Given the description of an element on the screen output the (x, y) to click on. 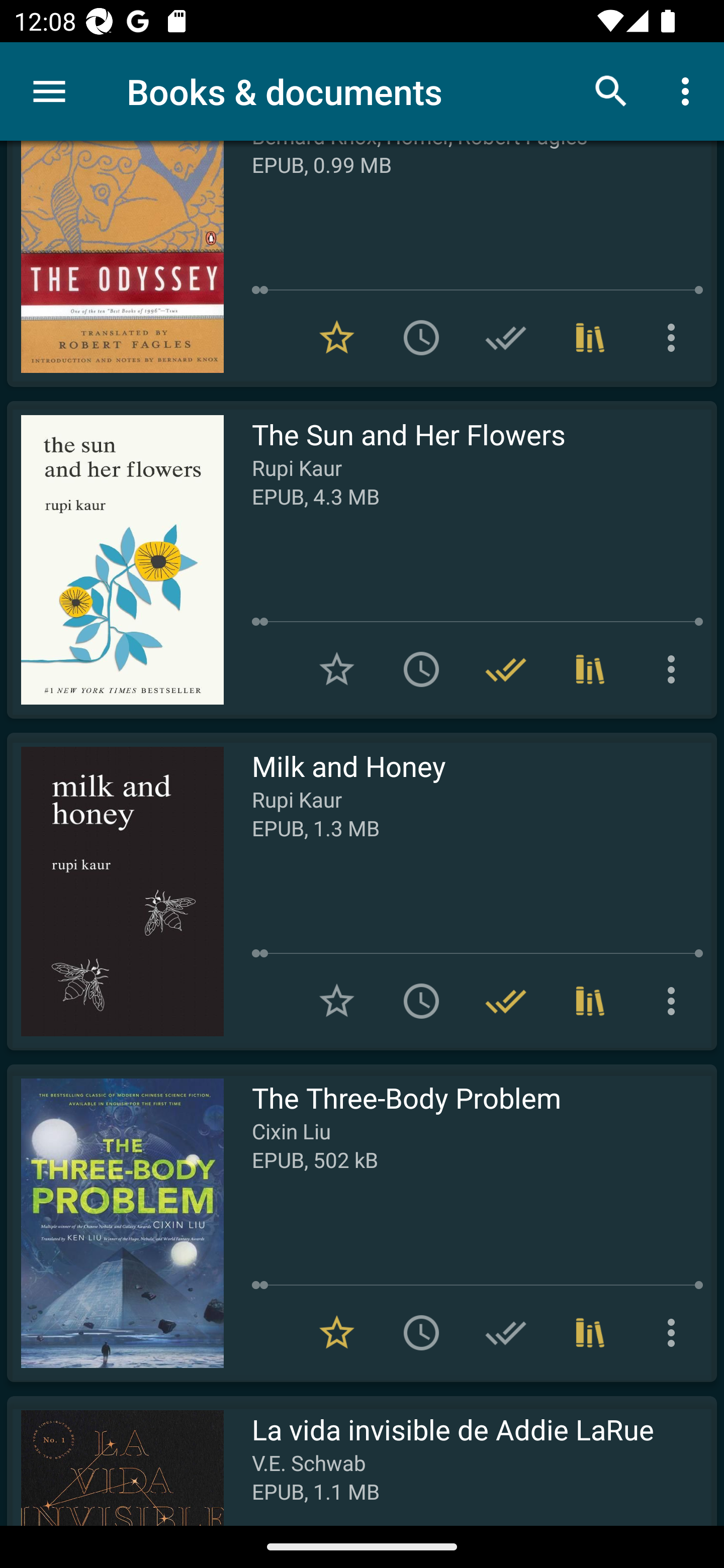
Menu (49, 91)
Search books & documents (611, 90)
More options (688, 90)
Read The Odyssey (115, 264)
Remove from Favorites (336, 336)
Add to To read (421, 336)
Add to Have read (505, 336)
Collections (2) (590, 336)
More options (674, 336)
Read The Sun and Her Flowers (115, 559)
Add to Favorites (336, 669)
Add to To read (421, 669)
Remove from Have read (505, 669)
Collections (1) (590, 669)
More options (674, 669)
Read Milk and Honey (115, 891)
Add to Favorites (336, 1000)
Add to To read (421, 1000)
Remove from Have read (505, 1000)
Collections (1) (590, 1000)
More options (674, 1000)
Read The Three-Body Problem (115, 1222)
Remove from Favorites (336, 1332)
Add to To read (421, 1332)
Add to Have read (505, 1332)
Collections (1) (590, 1332)
More options (674, 1332)
